Given the description of an element on the screen output the (x, y) to click on. 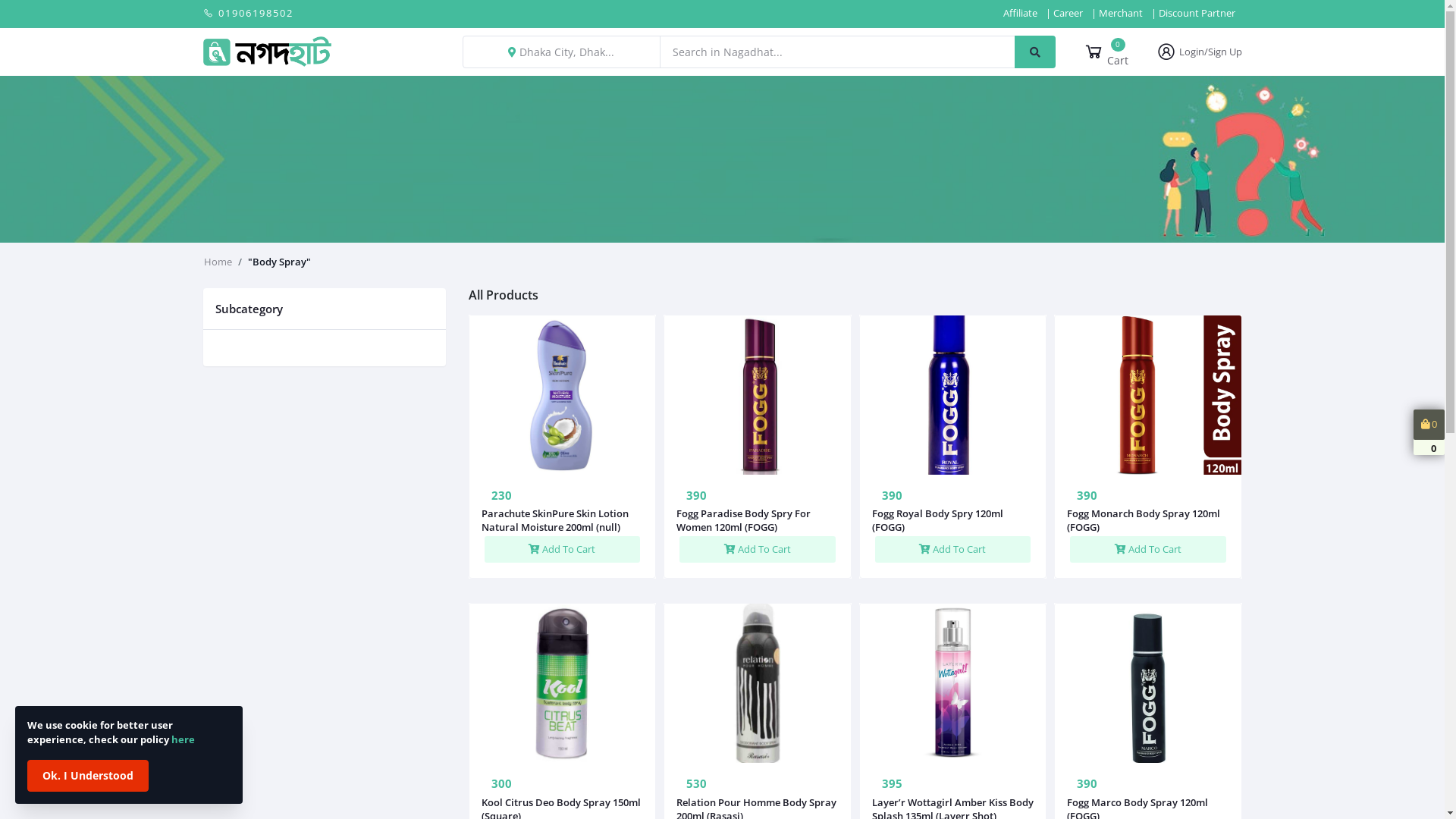
Add To Cart Element type: text (757, 549)
0
Cart Element type: text (1105, 51)
Fogg Royal Body Spry 120ml (FOGG) Element type: text (953, 519)
here Element type: text (182, 739)
Merchant Element type: text (1120, 12)
Fogg Paradise Body Spry For Women 120ml (FOGG) Element type: text (757, 519)
Dhaka City, Dhak... Element type: text (561, 51)
Add To Cart Element type: text (1148, 549)
Parachute SkinPure Skin Lotion Natural Moisture 200ml (null) Element type: text (561, 519)
Discount Partner Element type: text (1196, 13)
Add To Cart Element type: text (561, 549)
Career Element type: text (1067, 12)
Ok. I Understood Element type: text (87, 775)
Login/Sign Up Element type: text (1198, 51)
"Body Spray" Element type: text (278, 261)
 01906198502 Element type: text (248, 13)
Add To Cart Element type: text (953, 549)
Fogg Monarch Body Spray 120ml (FOGG) Element type: text (1147, 519)
Home Element type: text (217, 261)
Affiliate Element type: text (1020, 12)
